Given the description of an element on the screen output the (x, y) to click on. 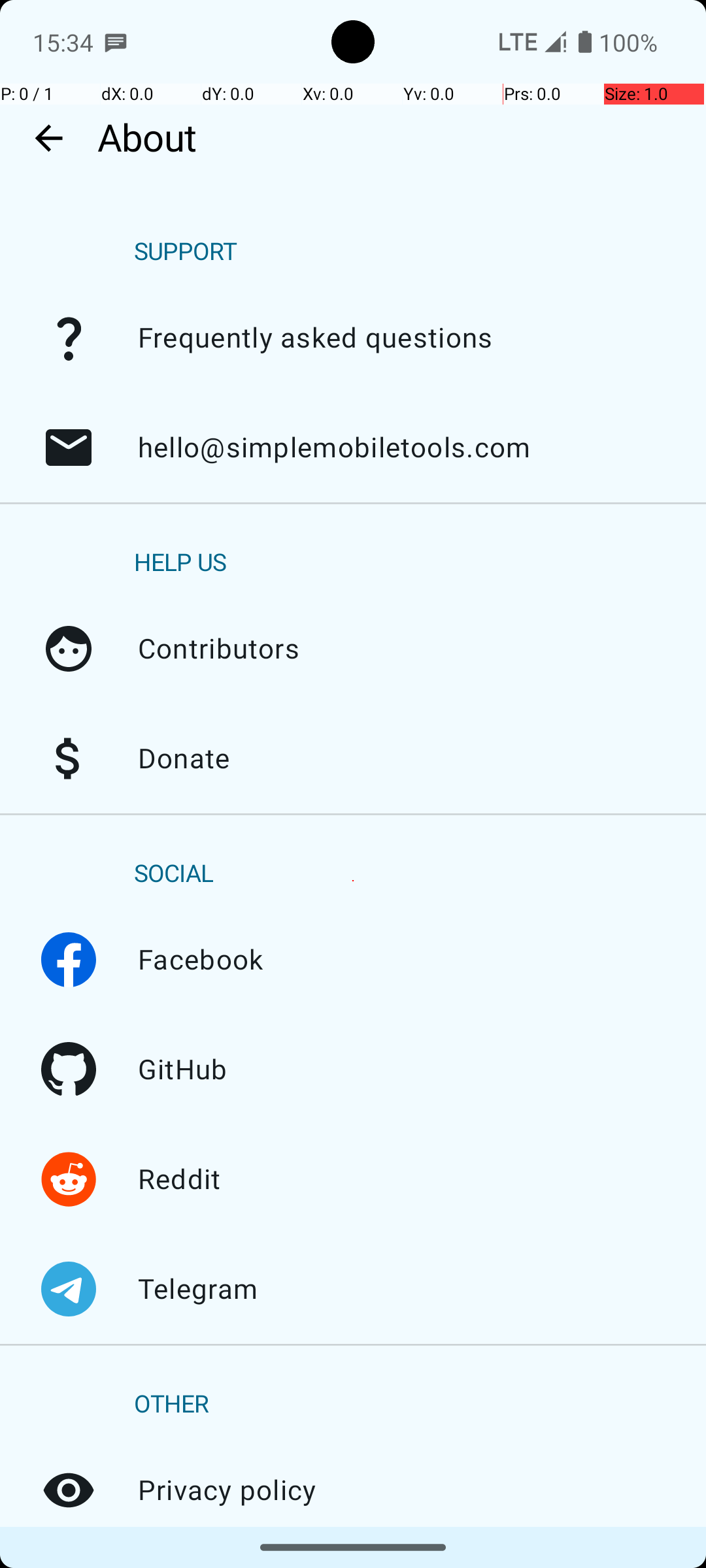
SMS Messenger notification: Juan Alves Element type: android.widget.ImageView (115, 41)
